Given the description of an element on the screen output the (x, y) to click on. 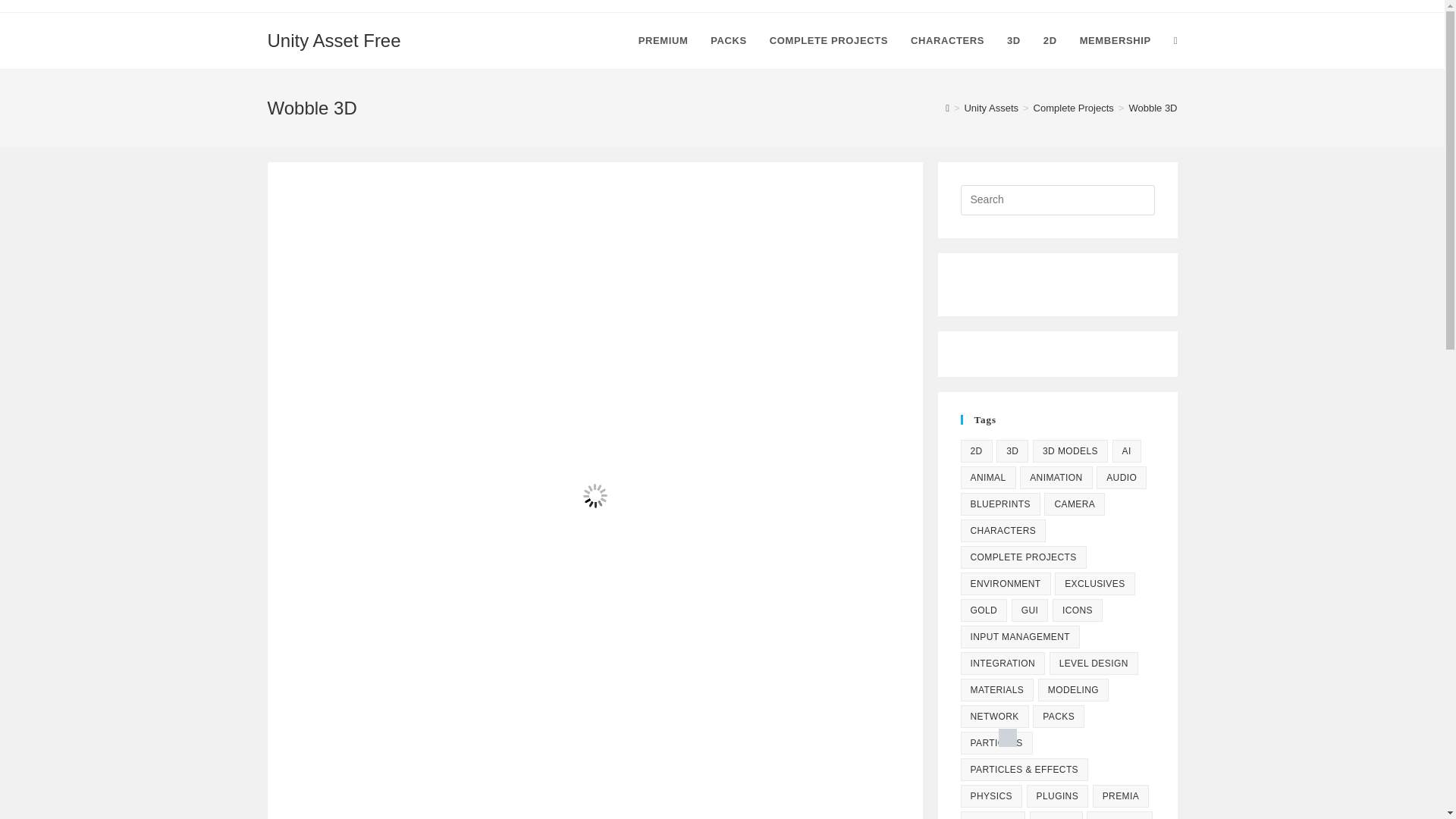
Unity Assets (990, 107)
PREMIUM (663, 40)
MEMBERSHIP (1114, 40)
Wobble 3D (1152, 107)
COMPLETE PROJECTS (828, 40)
PACKS (728, 40)
CHARACTERS (947, 40)
2D (975, 450)
Unity Asset Free (333, 40)
Complete Projects (1073, 107)
